Given the description of an element on the screen output the (x, y) to click on. 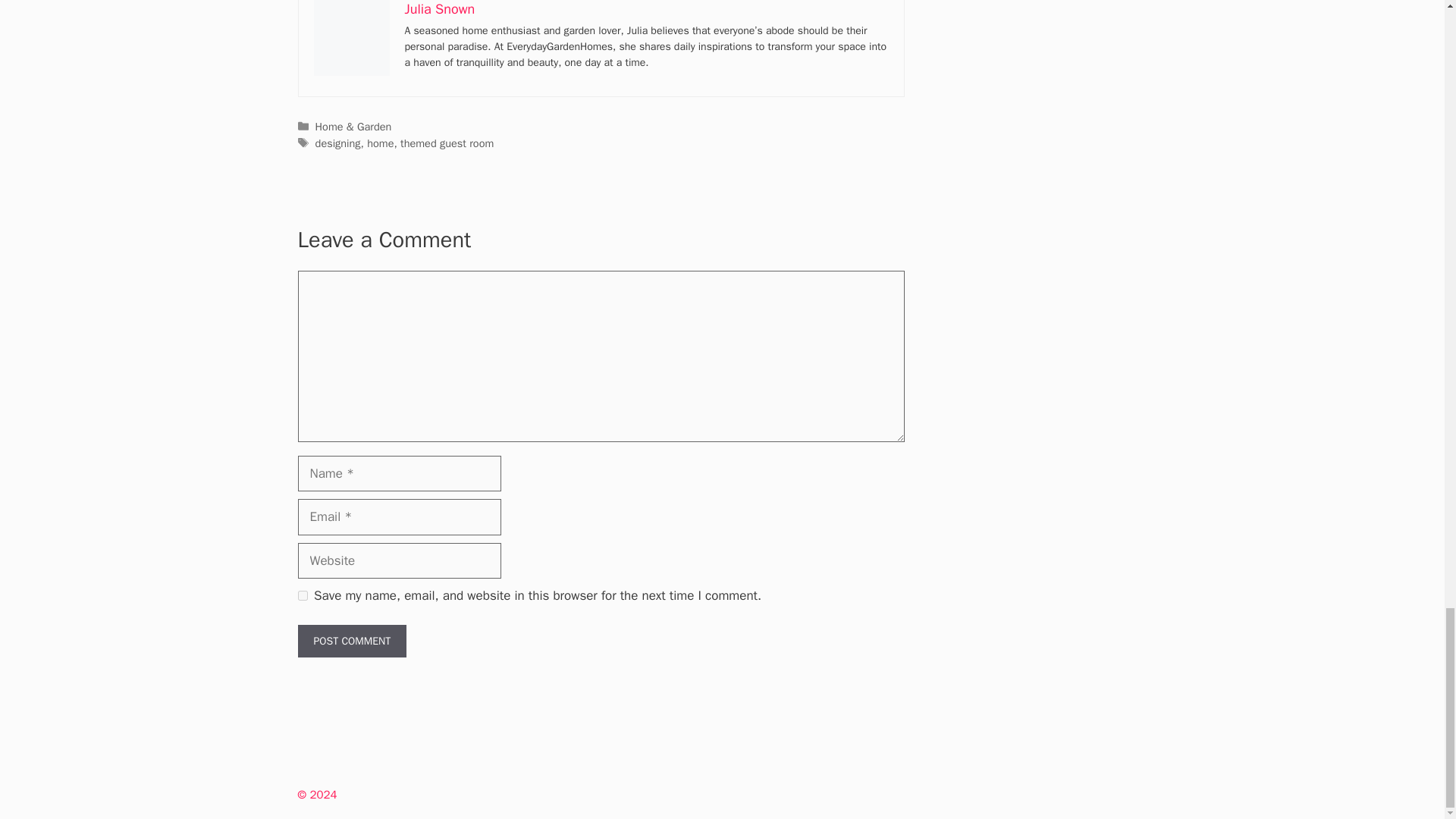
home (379, 142)
yes (302, 595)
Post Comment (351, 640)
Post Comment (351, 640)
Julia Snown (440, 8)
themed guest room (446, 142)
designing (338, 142)
